Given the description of an element on the screen output the (x, y) to click on. 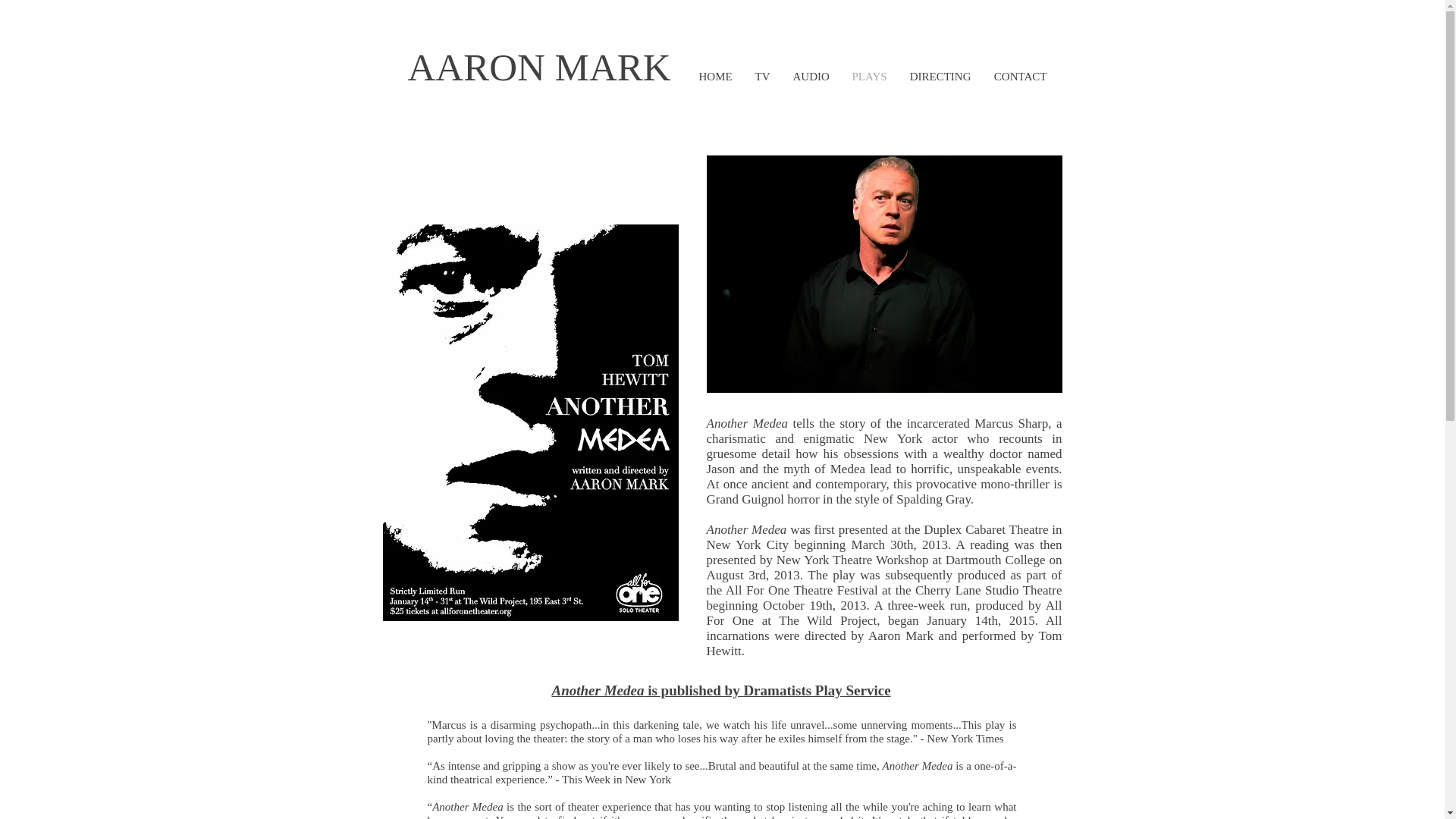
AARON MARK (539, 66)
PLAYS (869, 76)
AUDIO (810, 76)
HOME (714, 76)
TV (761, 76)
DIRECTING (939, 76)
Another Medea is published by Dramatists Play Service (721, 690)
CONTACT (1020, 76)
